Given the description of an element on the screen output the (x, y) to click on. 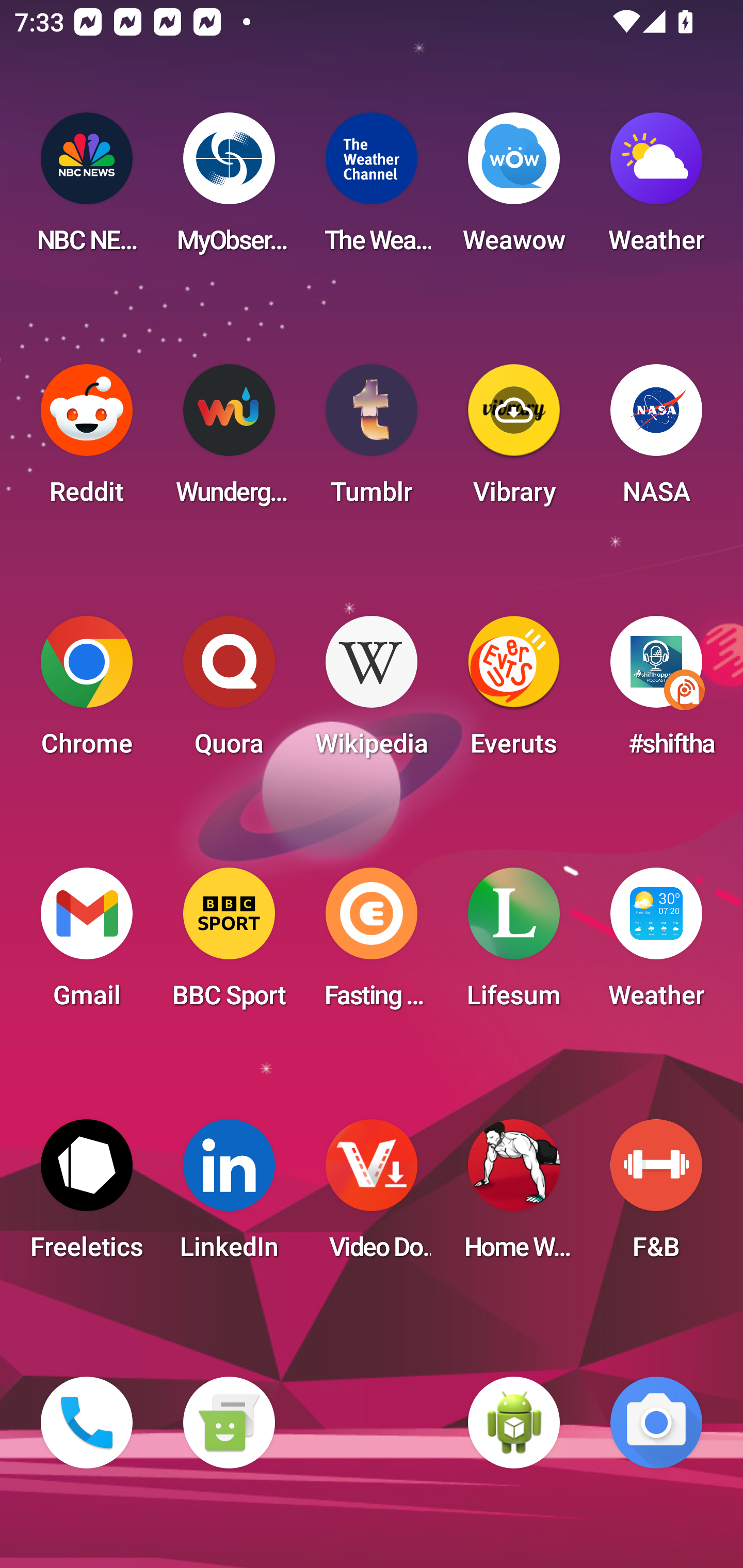
NBC NEWS (86, 188)
MyObservatory (228, 188)
The Weather Channel (371, 188)
Weawow (513, 188)
Weather (656, 188)
Reddit (86, 440)
Wunderground (228, 440)
Tumblr (371, 440)
Vibrary (513, 440)
NASA (656, 440)
Chrome (86, 692)
Quora (228, 692)
Wikipedia (371, 692)
Everuts (513, 692)
#shifthappens in the Digital Workplace Podcast (656, 692)
Gmail (86, 943)
BBC Sport (228, 943)
Fasting Coach (371, 943)
Lifesum (513, 943)
Weather (656, 943)
Freeletics (86, 1195)
LinkedIn (228, 1195)
Video Downloader & Ace Player (371, 1195)
Home Workout (513, 1195)
F&B (656, 1195)
Phone (86, 1422)
Messaging (228, 1422)
WebView Browser Tester (513, 1422)
Camera (656, 1422)
